Given the description of an element on the screen output the (x, y) to click on. 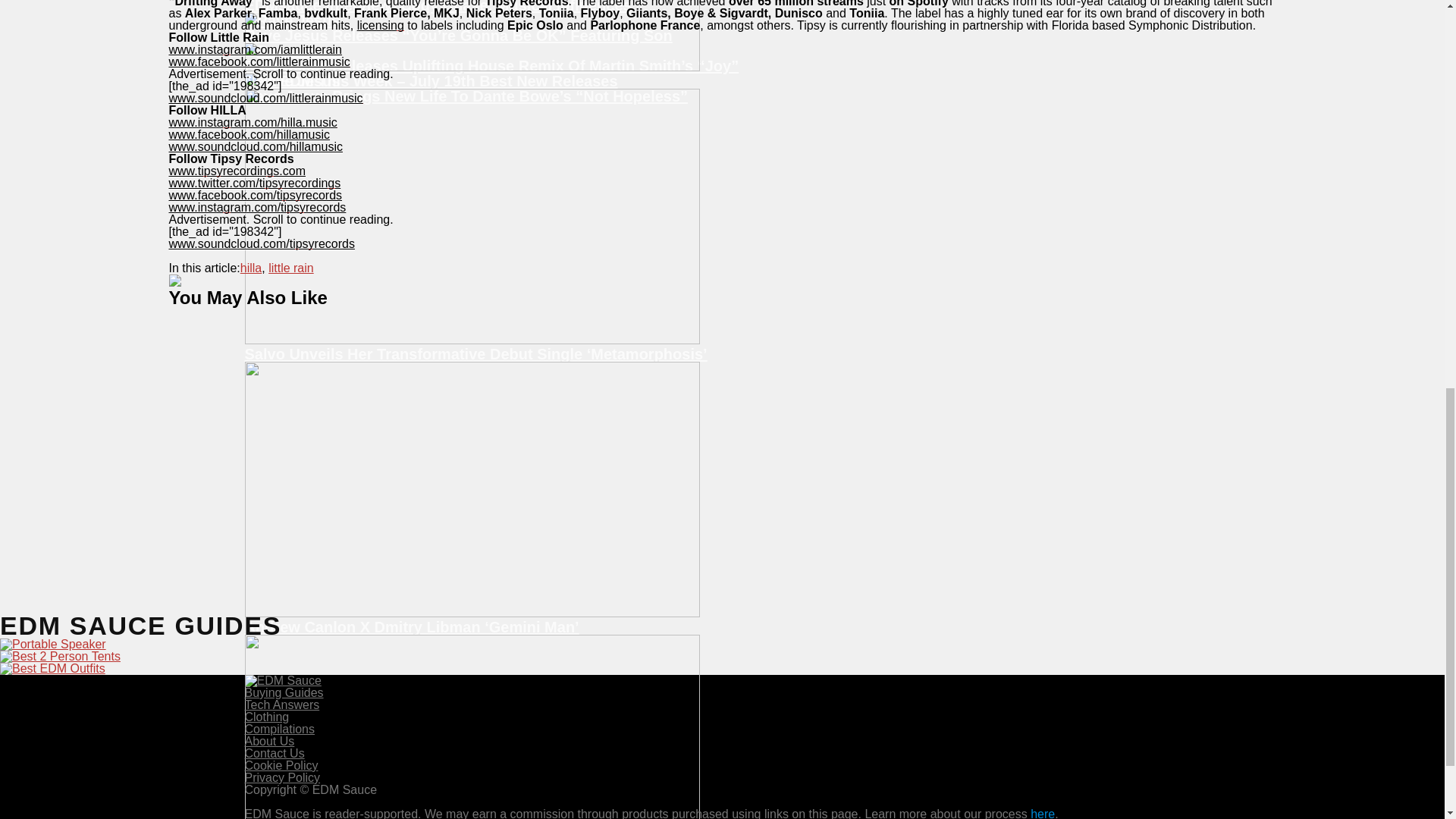
EDMsauce Interview: Cody Chase, Musical Influences (721, 6)
